Given the description of an element on the screen output the (x, y) to click on. 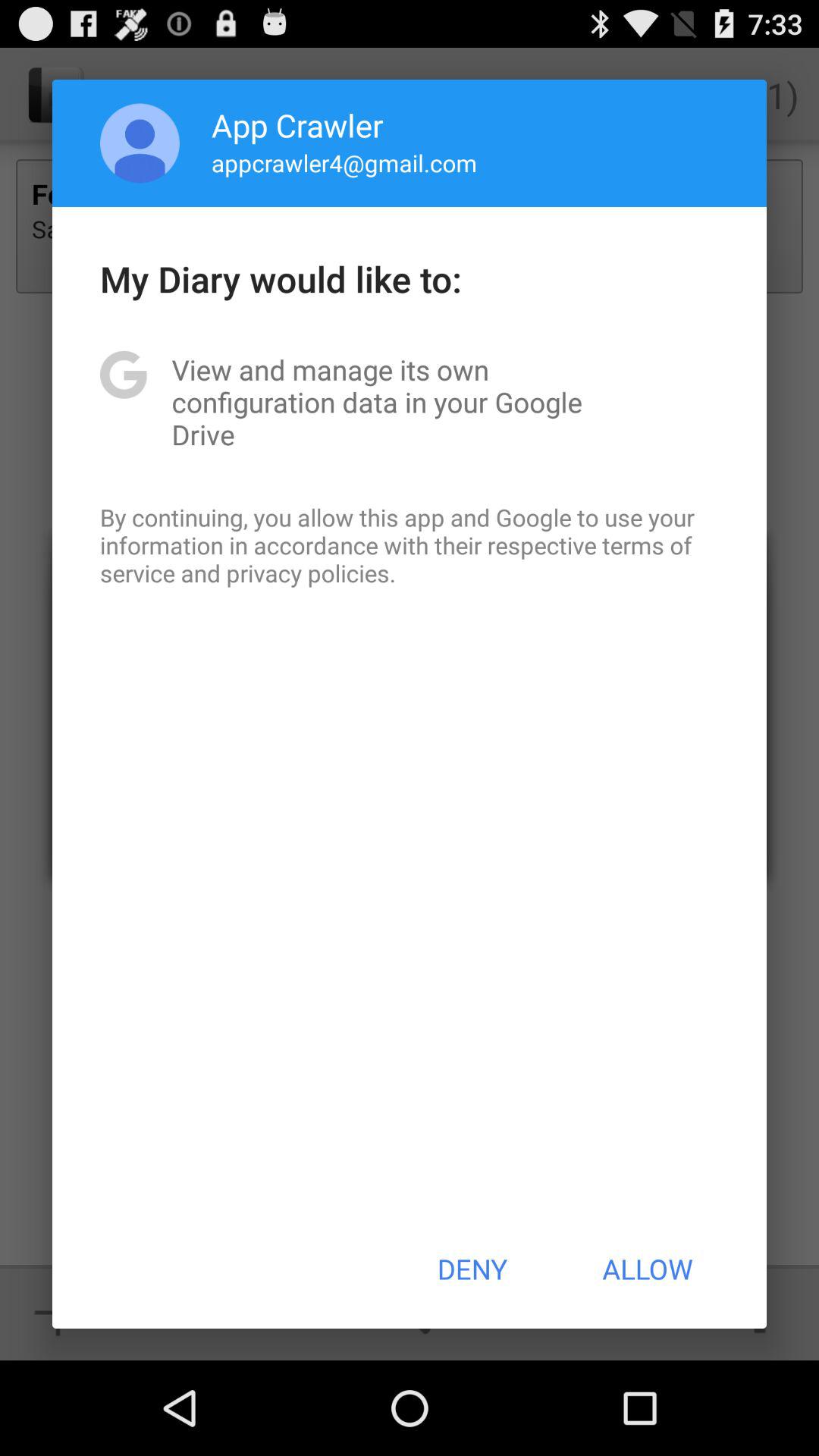
open app to the left of the app crawler app (139, 143)
